Given the description of an element on the screen output the (x, y) to click on. 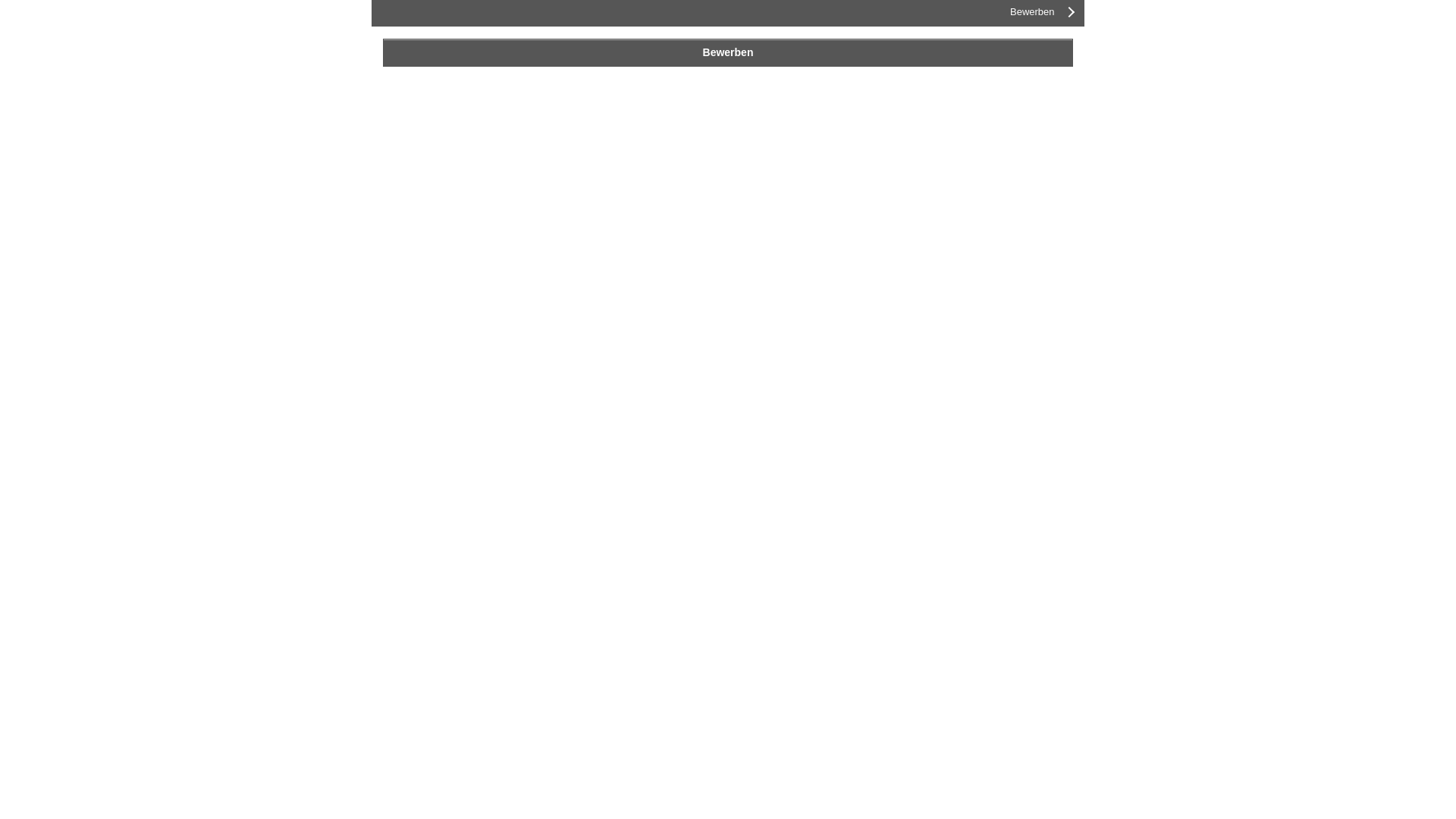
Bewerben Element type: text (727, 52)
